Given the description of an element on the screen output the (x, y) to click on. 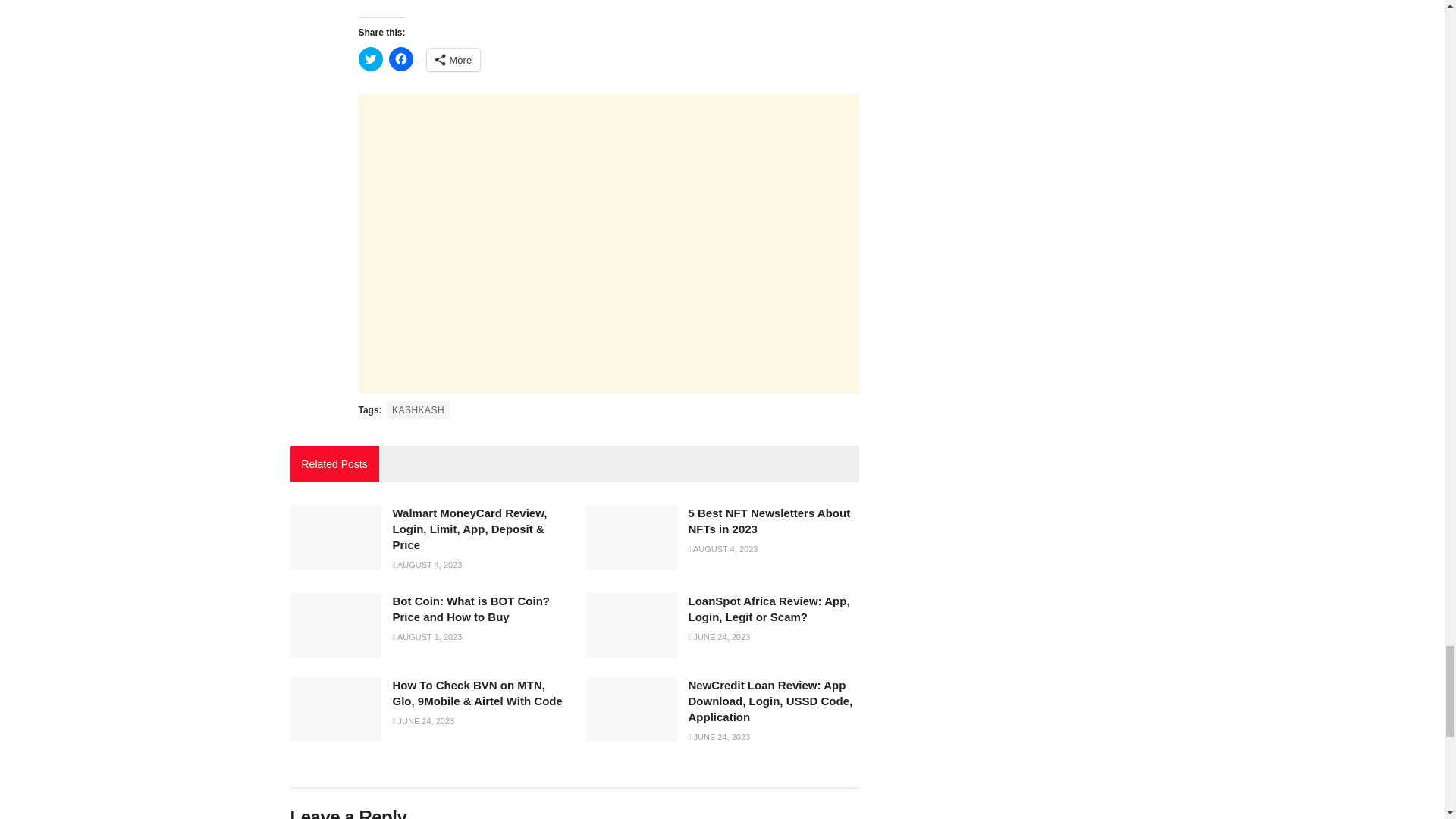
Click to share on Facebook (400, 58)
Click to share on Twitter (369, 58)
